Given the description of an element on the screen output the (x, y) to click on. 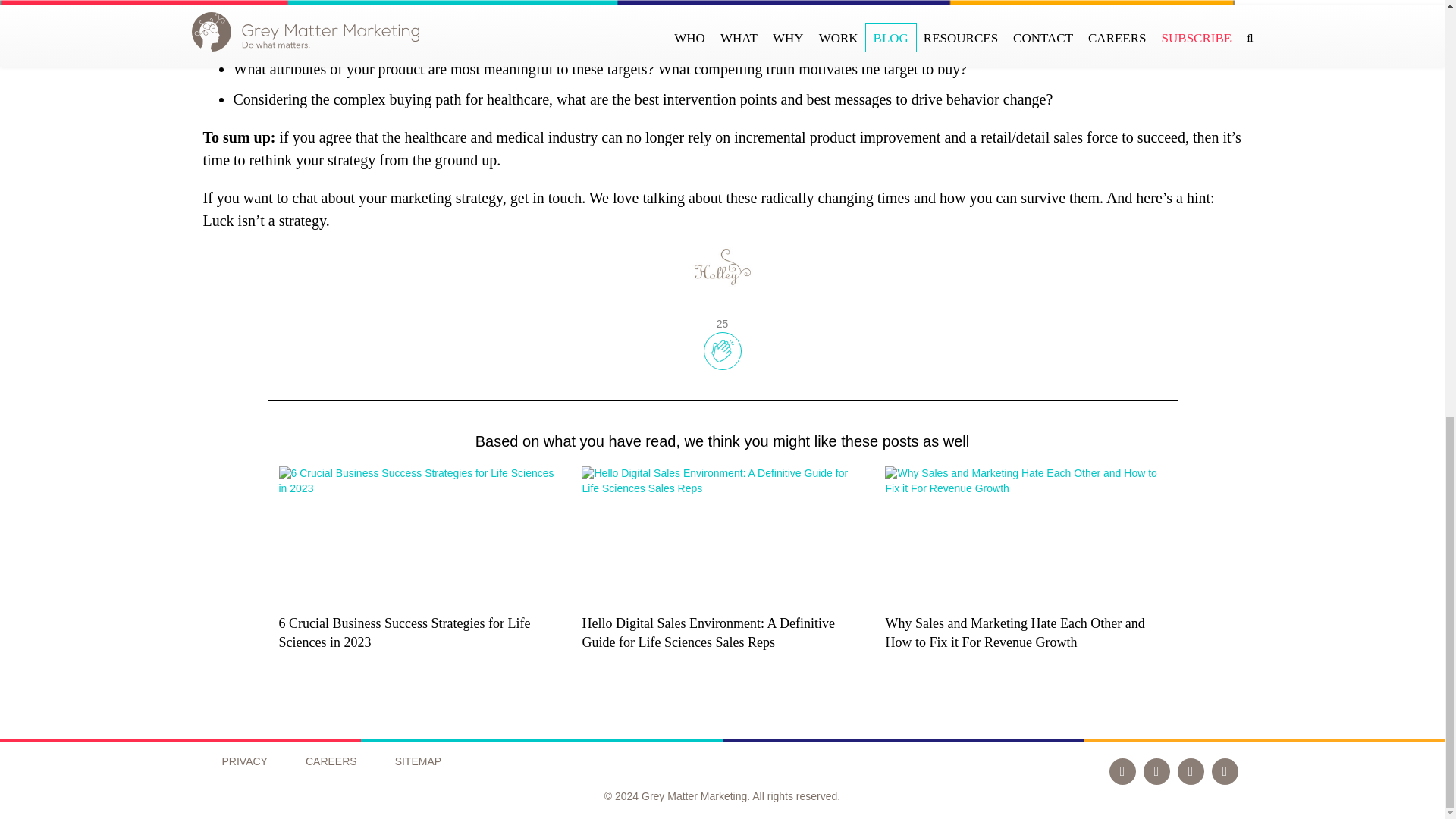
SITEMAP (417, 761)
PRIVACY (243, 761)
CAREERS (330, 761)
GMM Blog signature (721, 266)
